Given the description of an element on the screen output the (x, y) to click on. 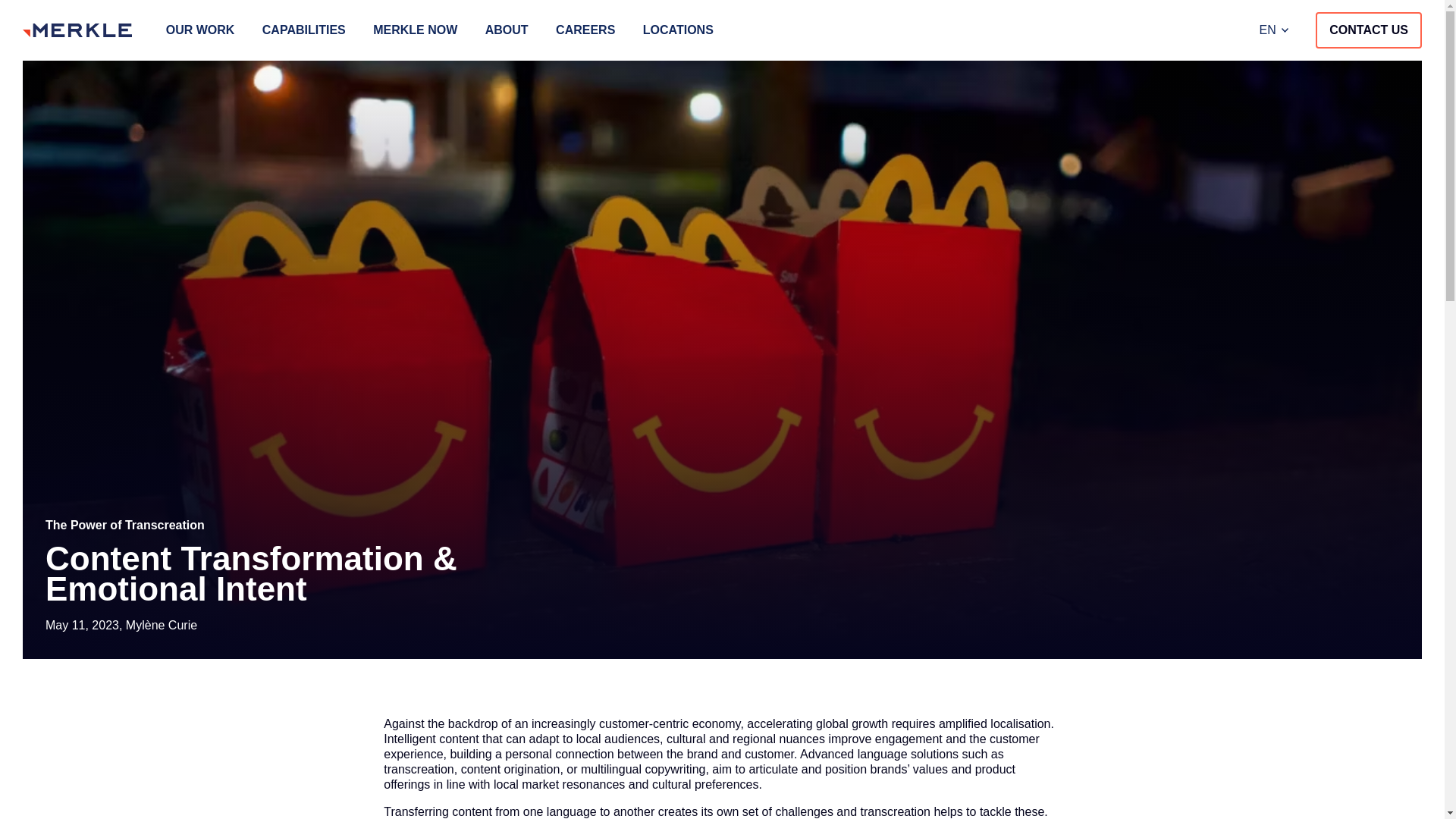
MERKLE NOW (414, 30)
CAREERS (585, 30)
OUR WORK (199, 30)
LOCATIONS (678, 30)
merkle-full-logo-lt.svg (77, 29)
ABOUT (506, 30)
CAPABILITIES (304, 30)
